Given the description of an element on the screen output the (x, y) to click on. 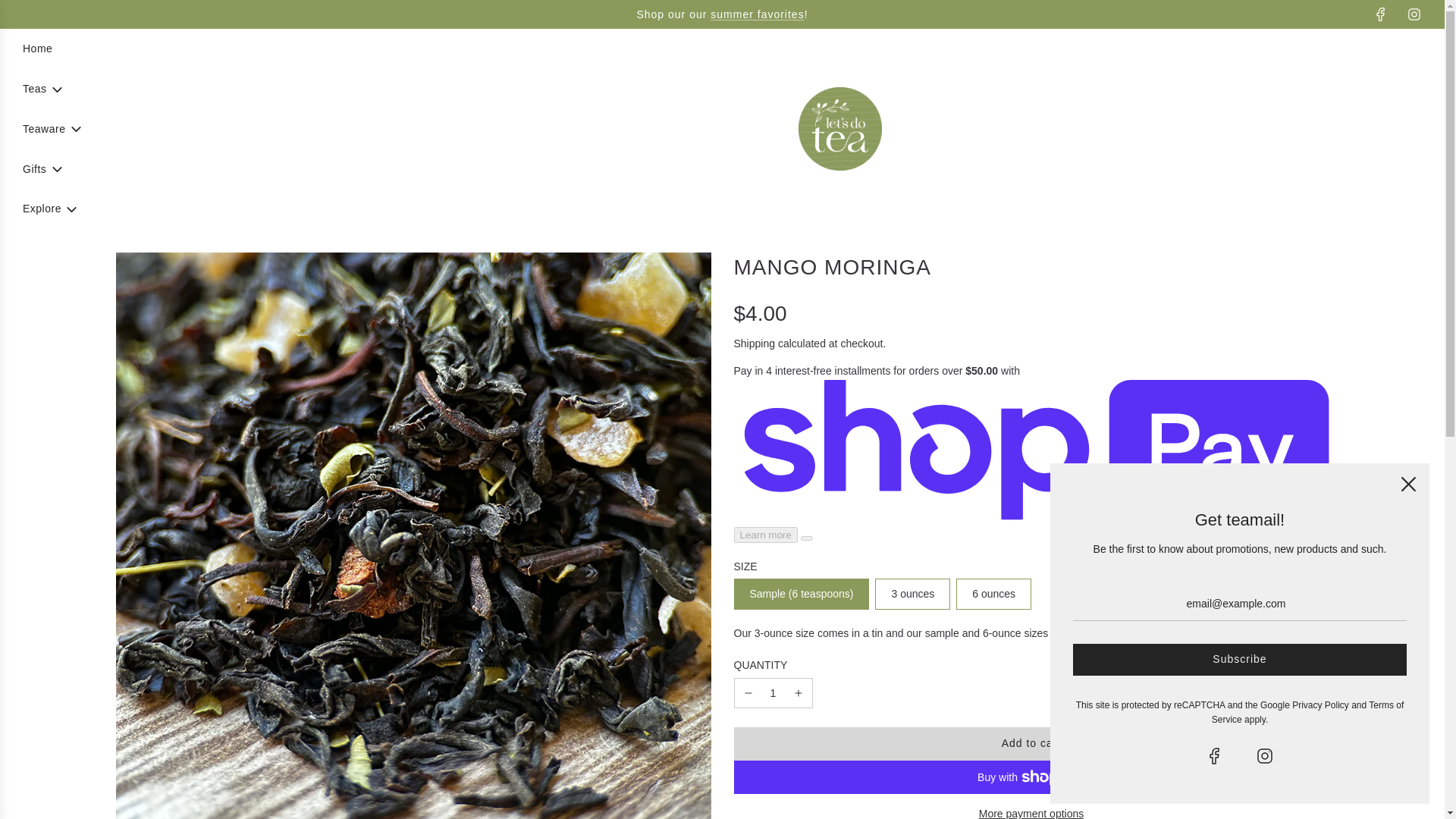
summer favorites (756, 14)
Subscribe (1239, 659)
Home (37, 47)
